Given the description of an element on the screen output the (x, y) to click on. 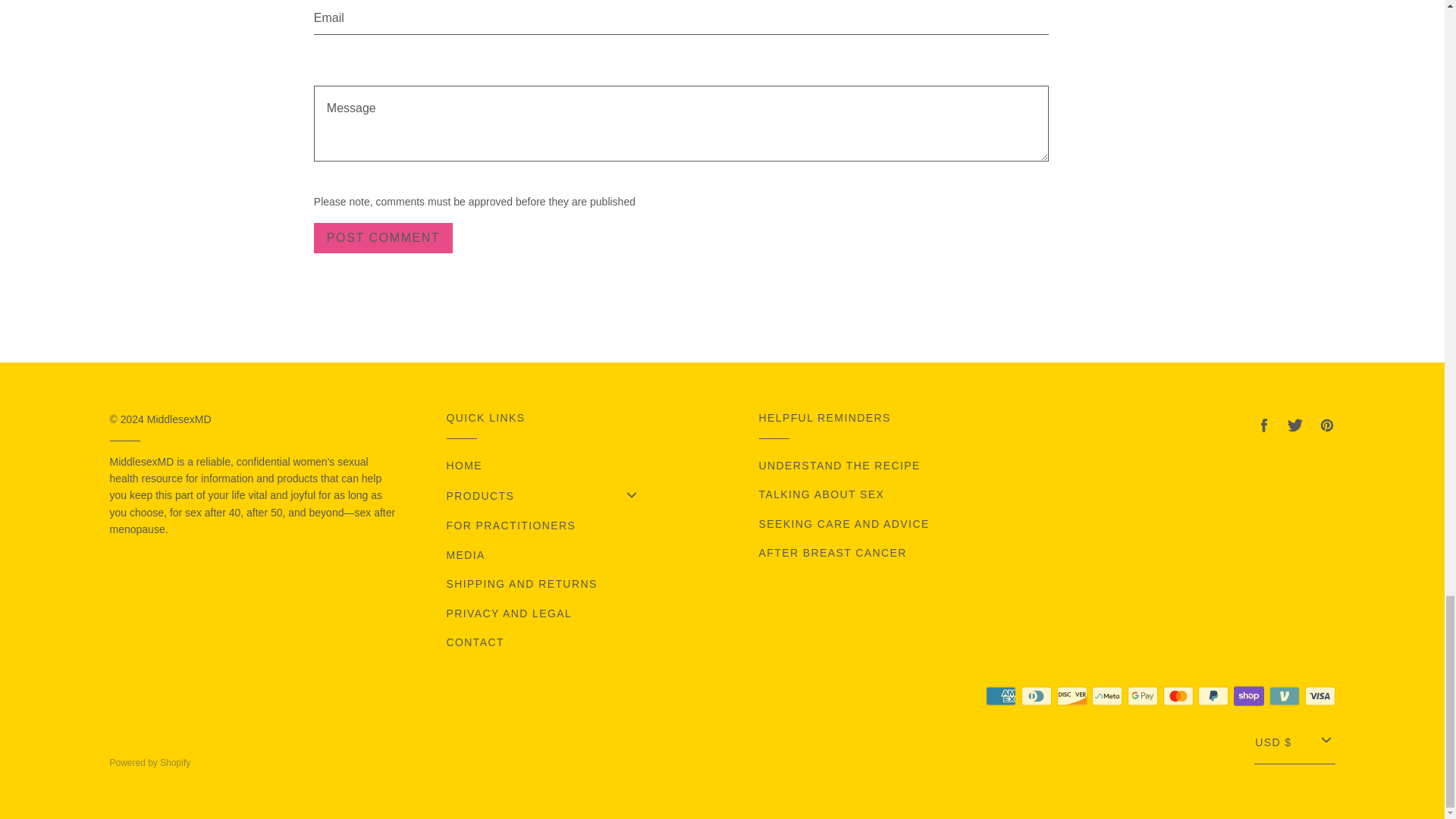
Diners Club (1036, 695)
PayPal (1213, 695)
Visa (1319, 695)
Google Pay (1141, 695)
Post comment (383, 237)
Shop Pay (1248, 695)
MiddlesexMD on Pinterest (1326, 425)
Venmo (1284, 695)
MiddlesexMD on Facebook (1263, 425)
MiddlesexMD on Twitter (1295, 425)
Mastercard (1178, 695)
American Express (1000, 695)
Meta Pay (1107, 695)
Discover (1072, 695)
